Given the description of an element on the screen output the (x, y) to click on. 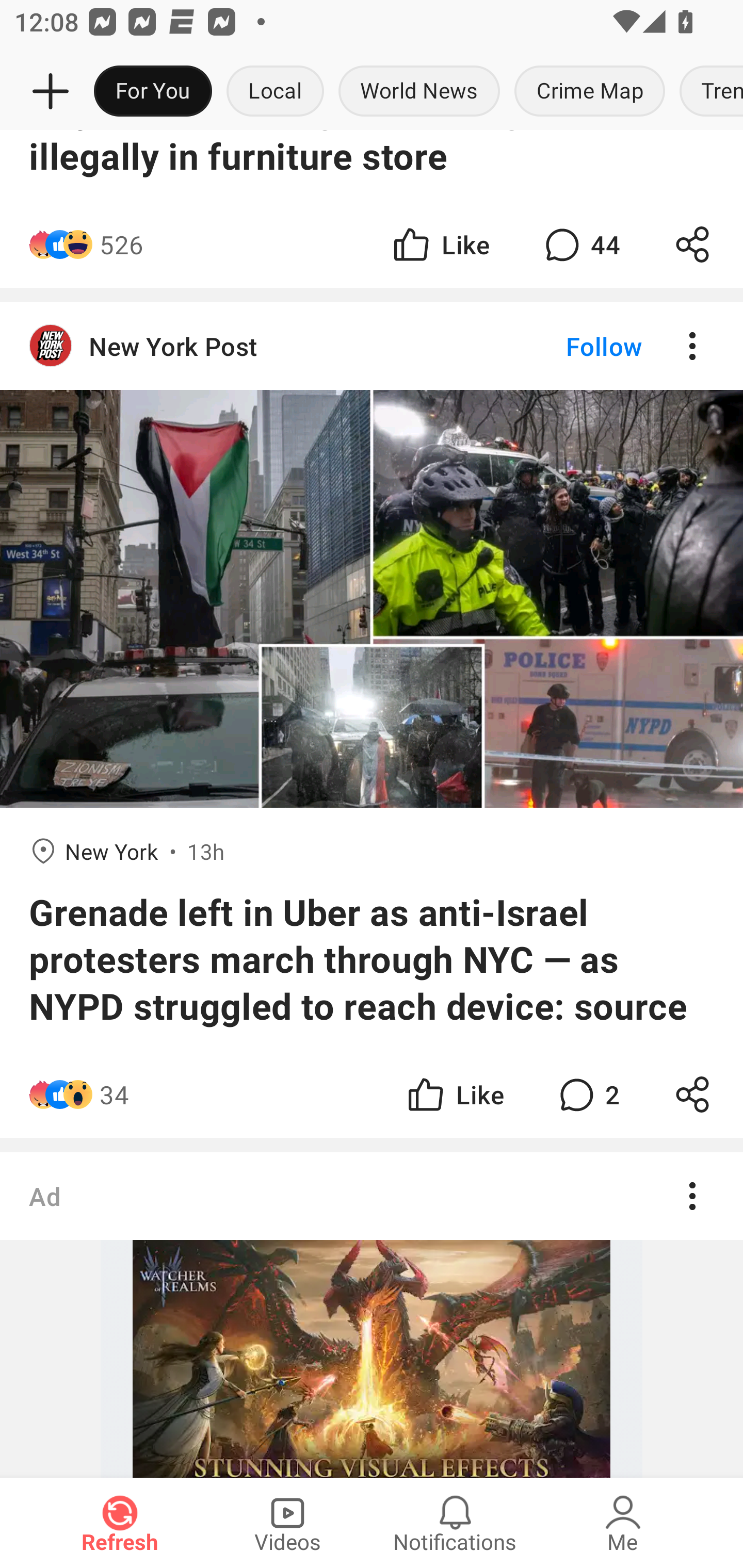
For You (152, 91)
Local (275, 91)
World News (419, 91)
Crime Map (589, 91)
526 (121, 244)
Like (439, 244)
44 (579, 244)
New York Post Follow (371, 346)
Follow (569, 346)
34 (114, 1094)
Like (454, 1094)
2 (587, 1094)
Videos (287, 1522)
Notifications (455, 1522)
Me (622, 1522)
